Given the description of an element on the screen output the (x, y) to click on. 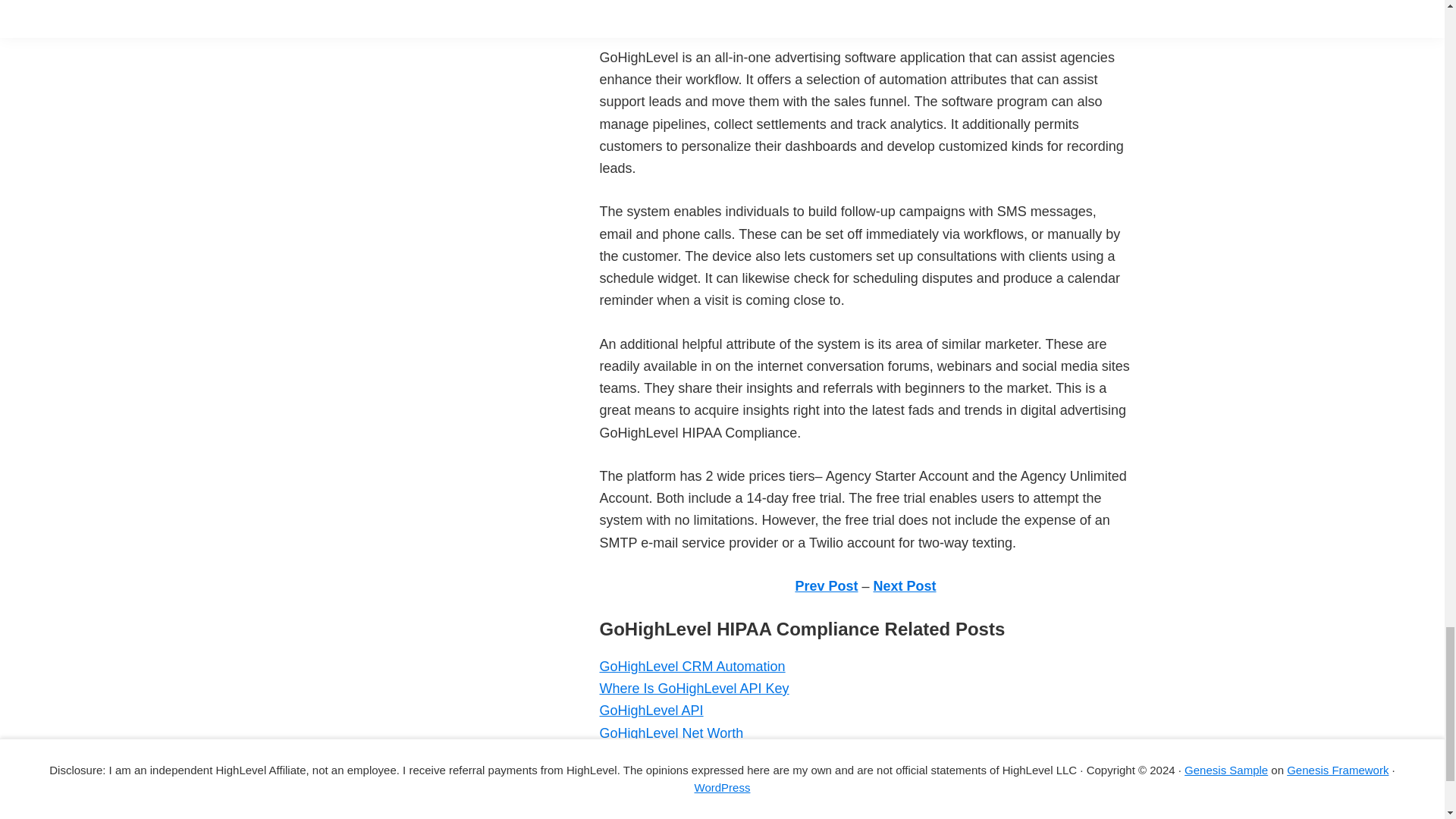
GoHighLevel CRM Automation (691, 666)
Figma To GoHighLevel (668, 776)
Figma To GoHighLevel (668, 776)
GoHighLevel Net Worth (670, 733)
Prev Post (825, 585)
Next Post (904, 585)
GoHighLevel CRM Automation (691, 666)
How To Sell GoHighLevel SaaS (694, 754)
How To Sell GoHighLevel SaaS (694, 754)
GoHighLevel Login Guide (676, 798)
